Given the description of an element on the screen output the (x, y) to click on. 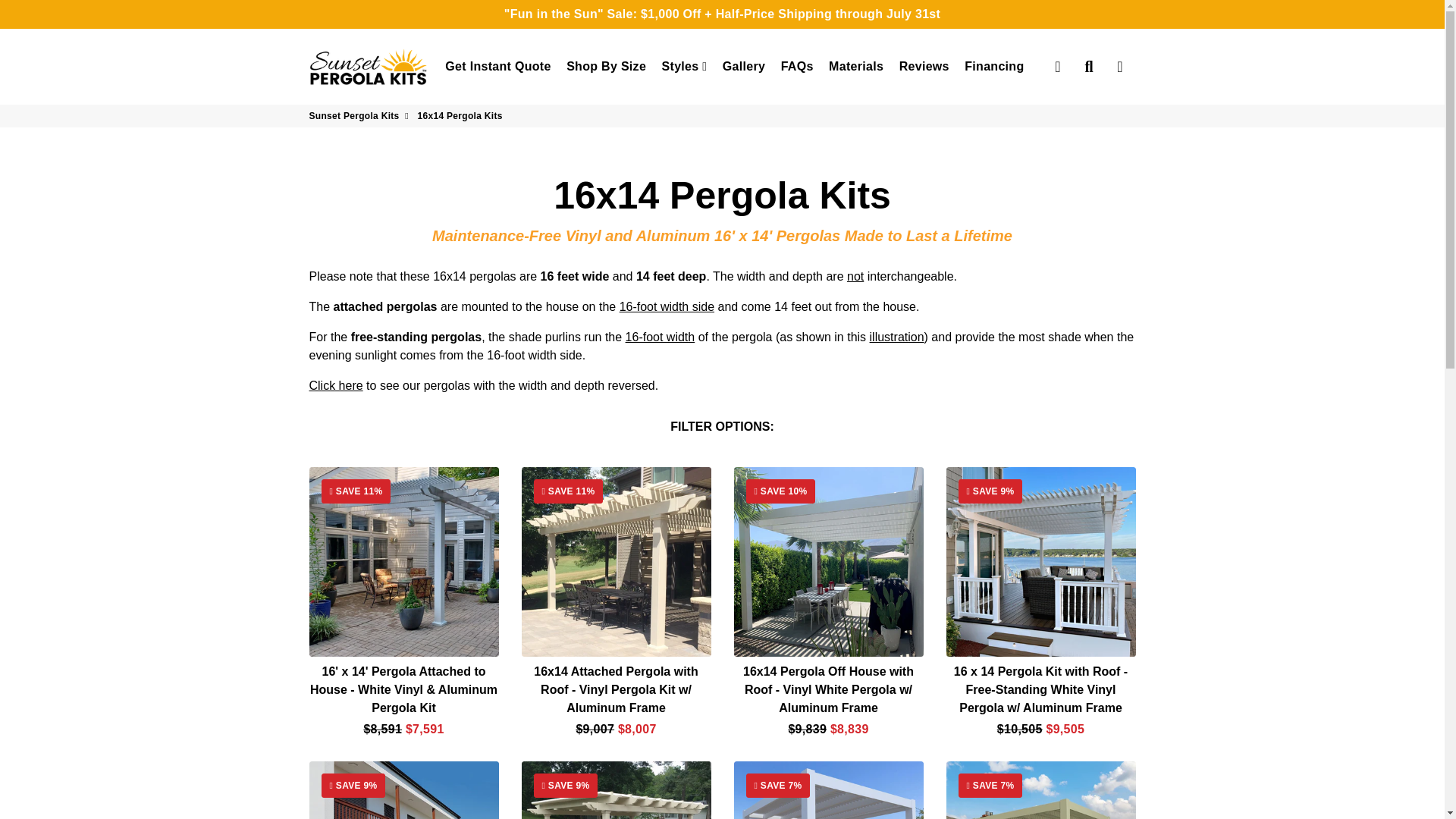
14x16 Pergola Kits (335, 385)
Shop By Size (606, 66)
Get Instant Quote (497, 66)
Sunset Pergola Kits (368, 66)
